Given the description of an element on the screen output the (x, y) to click on. 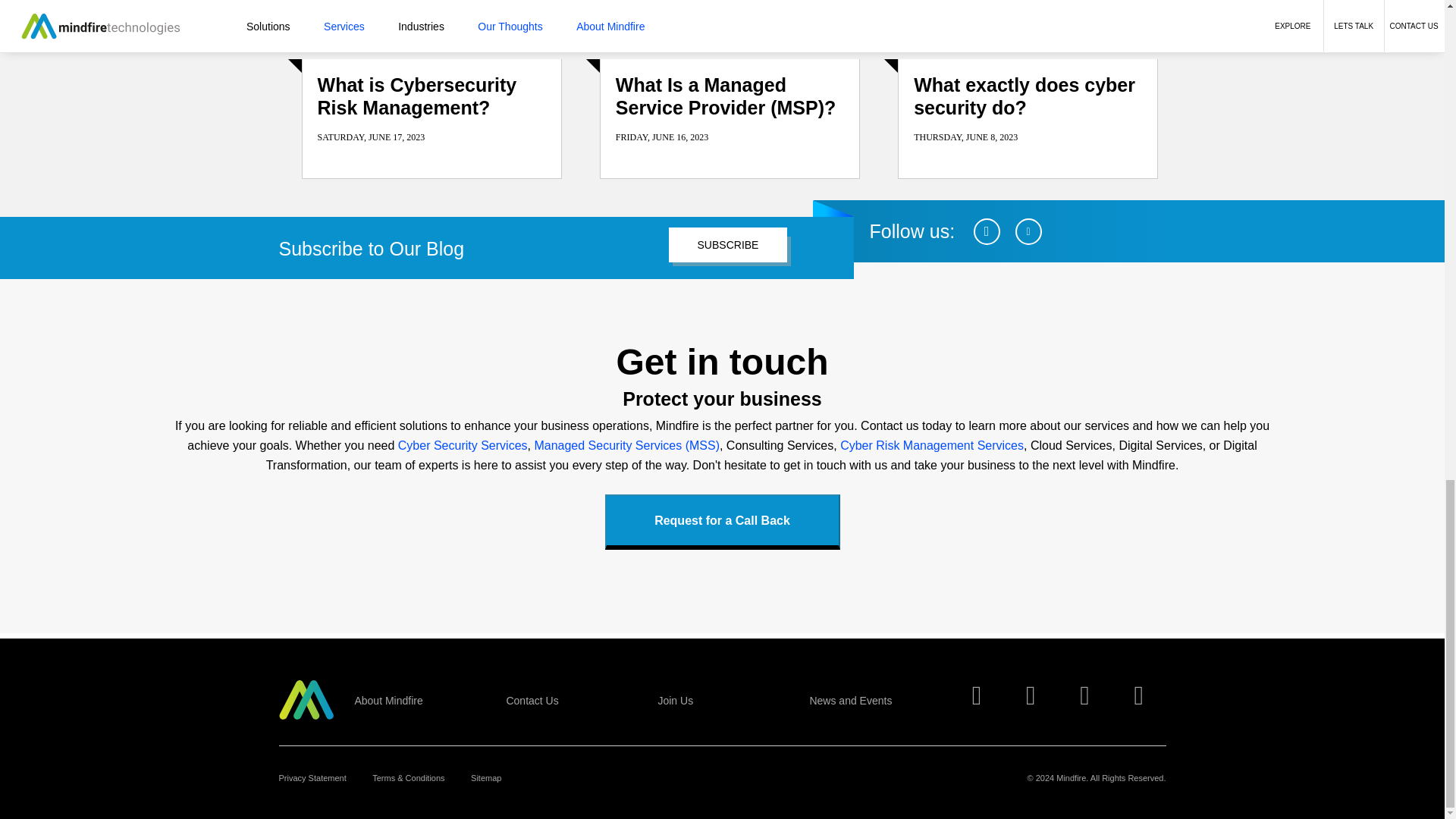
Cyber Security Services (462, 445)
Cyber Risk Management Services (931, 445)
